Given the description of an element on the screen output the (x, y) to click on. 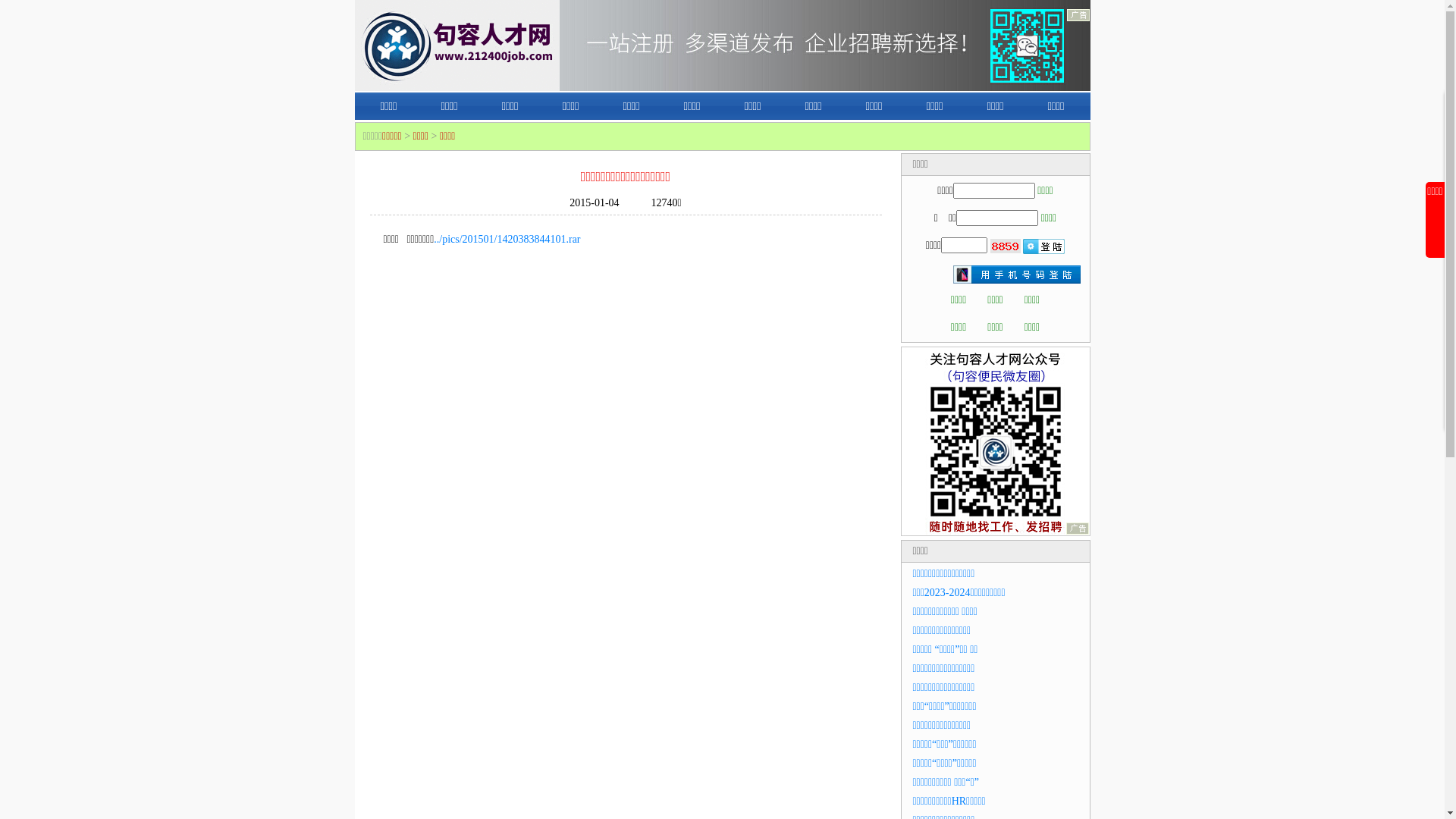
../pics/201501/1420383844101.rar Element type: text (506, 238)
